Given the description of an element on the screen output the (x, y) to click on. 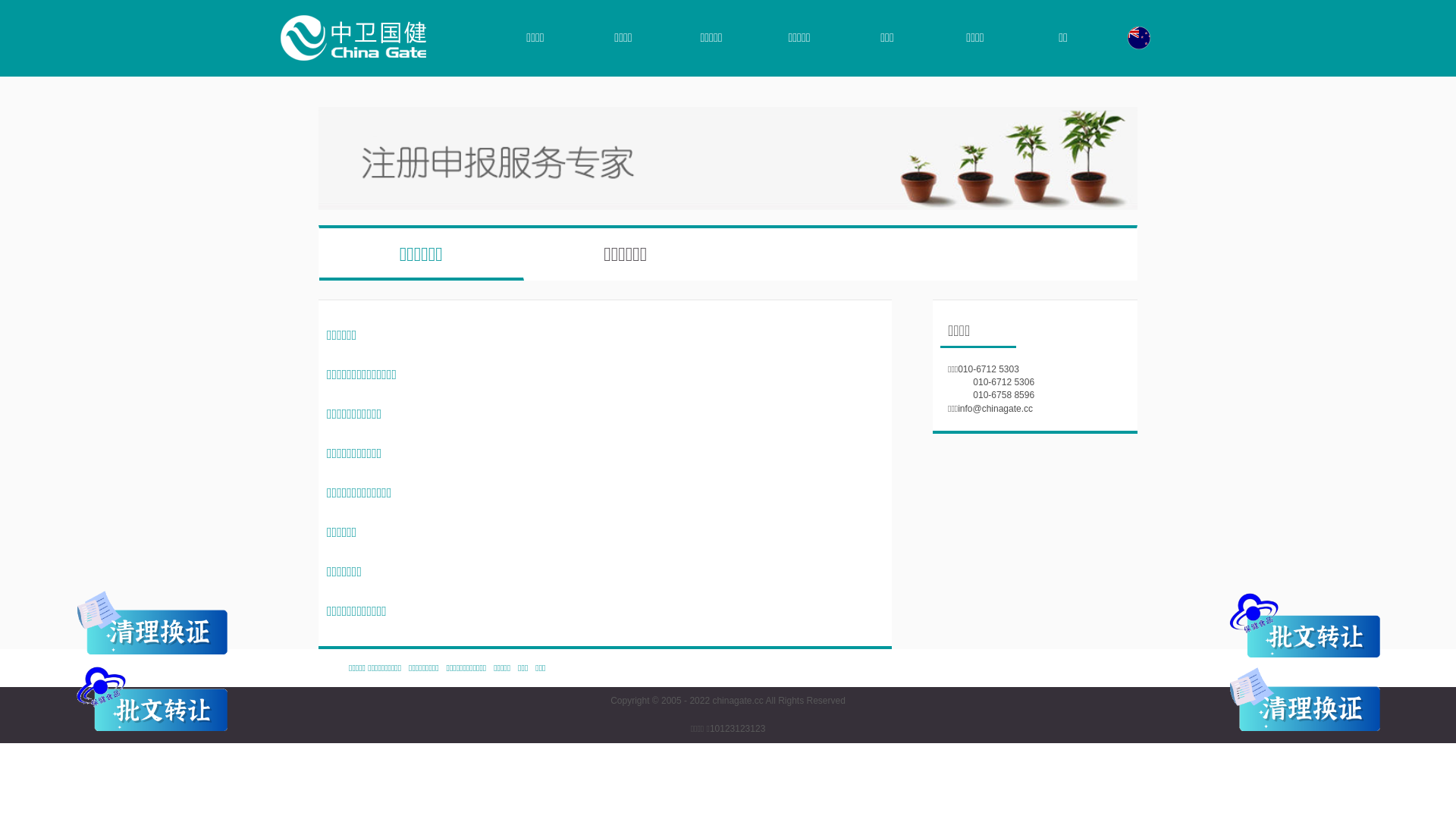
English Element type: hover (1138, 37)
